Given the description of an element on the screen output the (x, y) to click on. 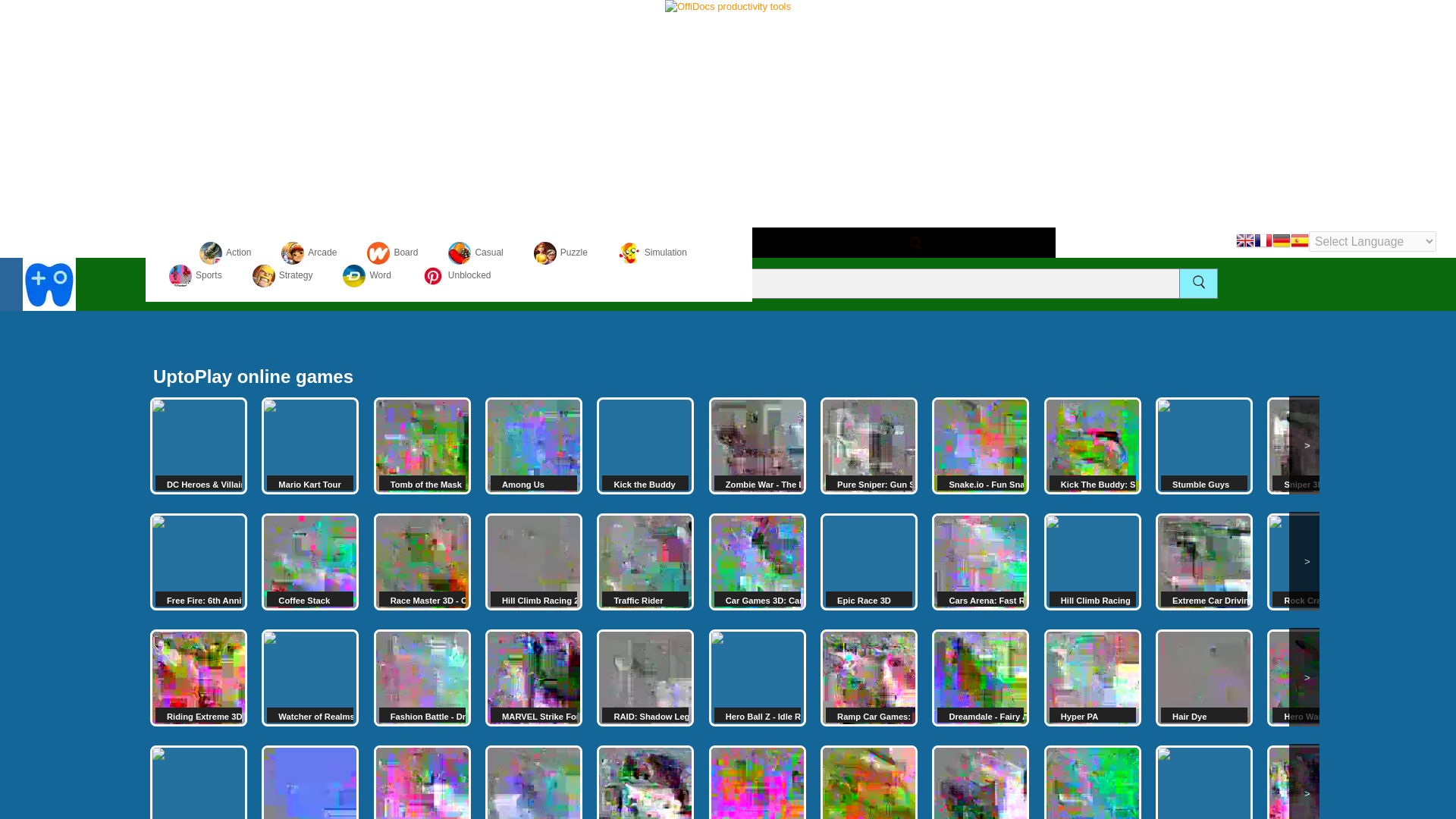
Mario Kart Tour (310, 445)
Board (391, 252)
Board games online (391, 252)
Car Games 3D: Car Racing (757, 561)
Action (224, 252)
Strategy (282, 275)
Snake.io - Fun Snake .io Games (980, 445)
Arcade games online (308, 252)
Epic Race 3D (869, 561)
Simulation games online (652, 252)
Casual (475, 252)
search (1199, 280)
Strategy games online (282, 275)
Puzzle games online (561, 252)
Hill Climb Racing 2 (533, 561)
